Given the description of an element on the screen output the (x, y) to click on. 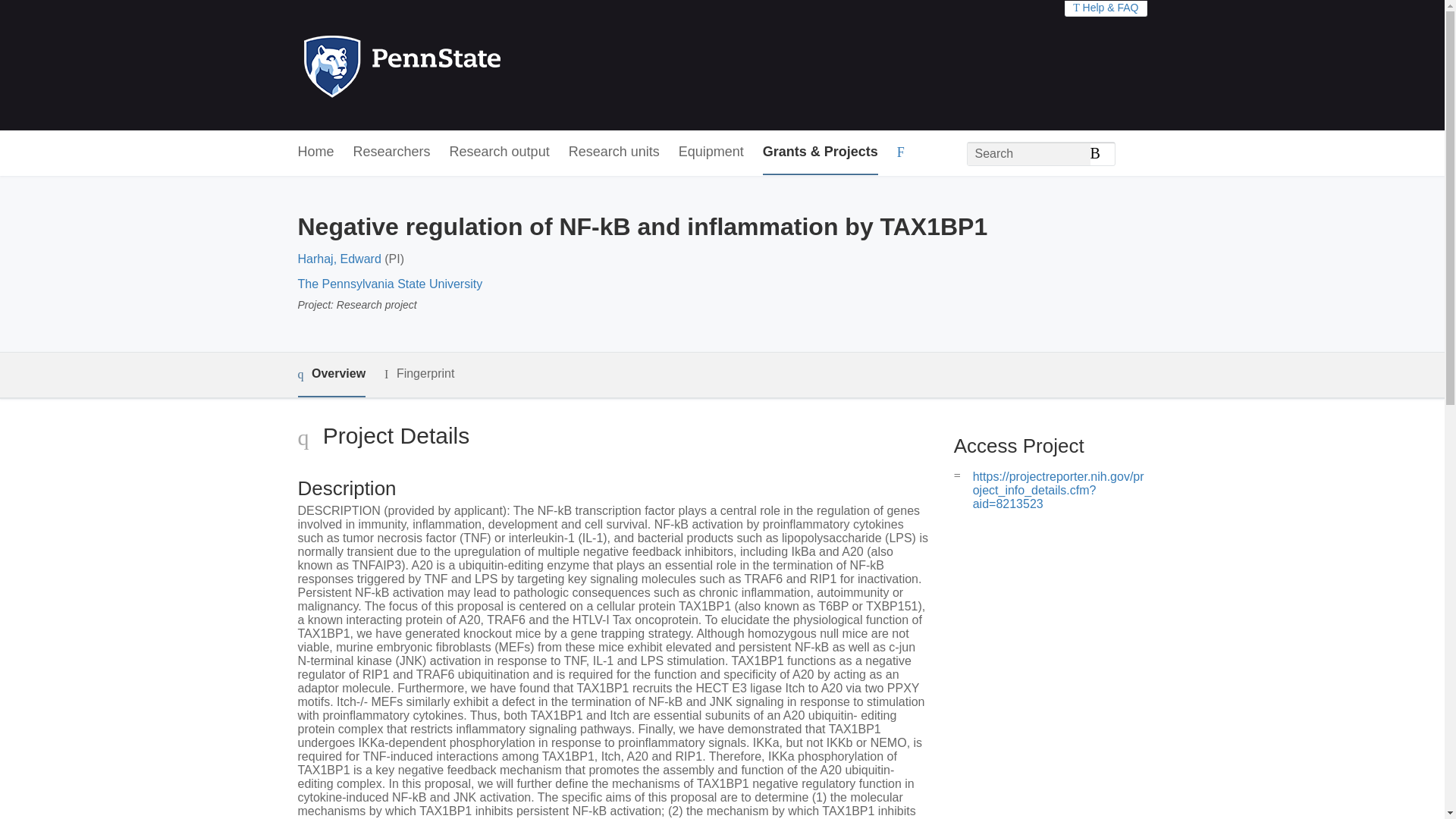
The Pennsylvania State University (389, 283)
Research units (614, 152)
Researchers (391, 152)
Equipment (711, 152)
Fingerprint (419, 373)
Harhaj, Edward (338, 258)
Research output (499, 152)
Overview (331, 374)
Penn State Home (467, 65)
